Given the description of an element on the screen output the (x, y) to click on. 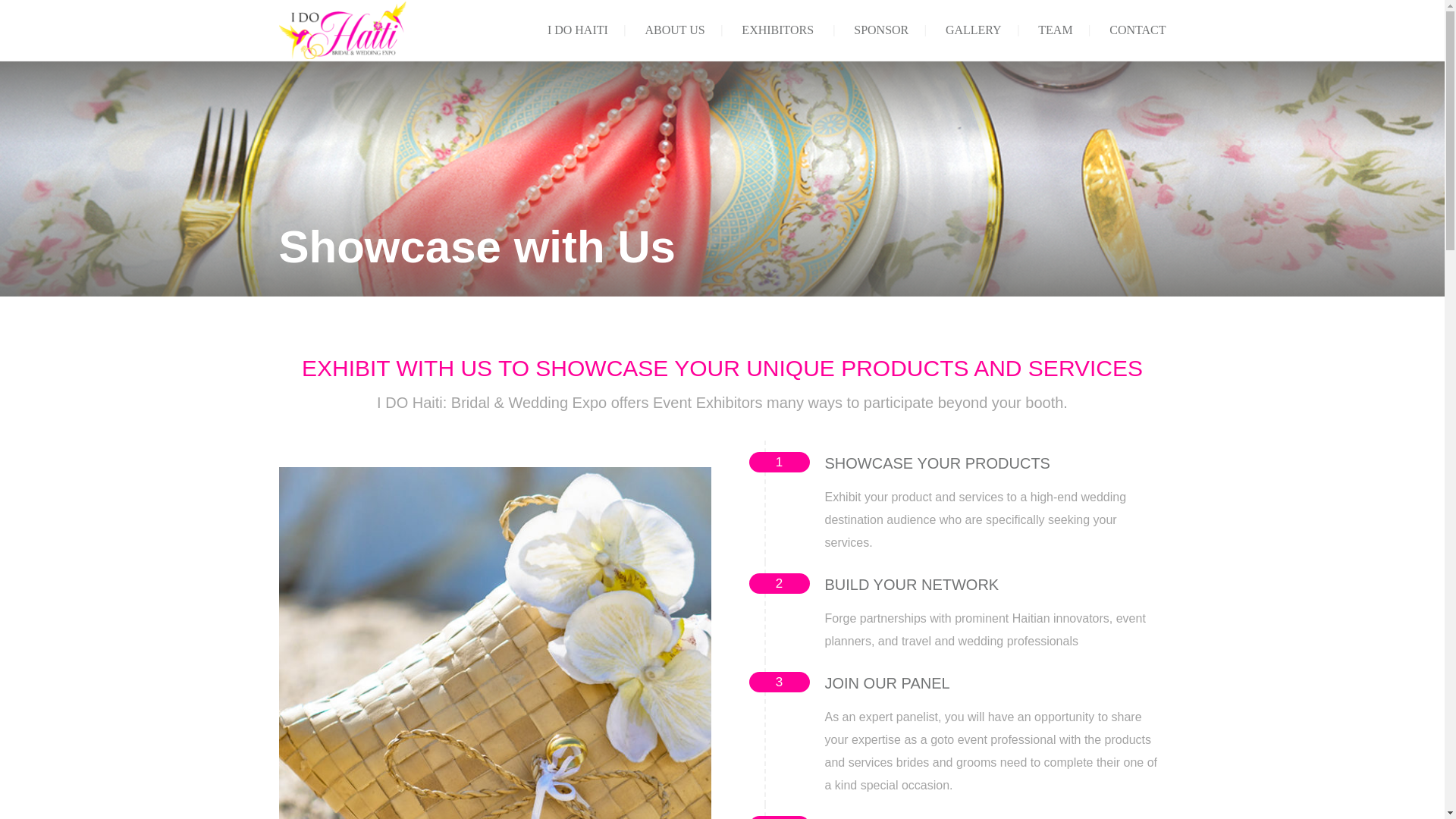
EXHIBITORS (777, 29)
SPONSOR (880, 29)
TEAM (1054, 29)
CONTACT (1137, 29)
ABOUT US (674, 29)
GALLERY (972, 29)
I DO HAITI (577, 29)
